Given the description of an element on the screen output the (x, y) to click on. 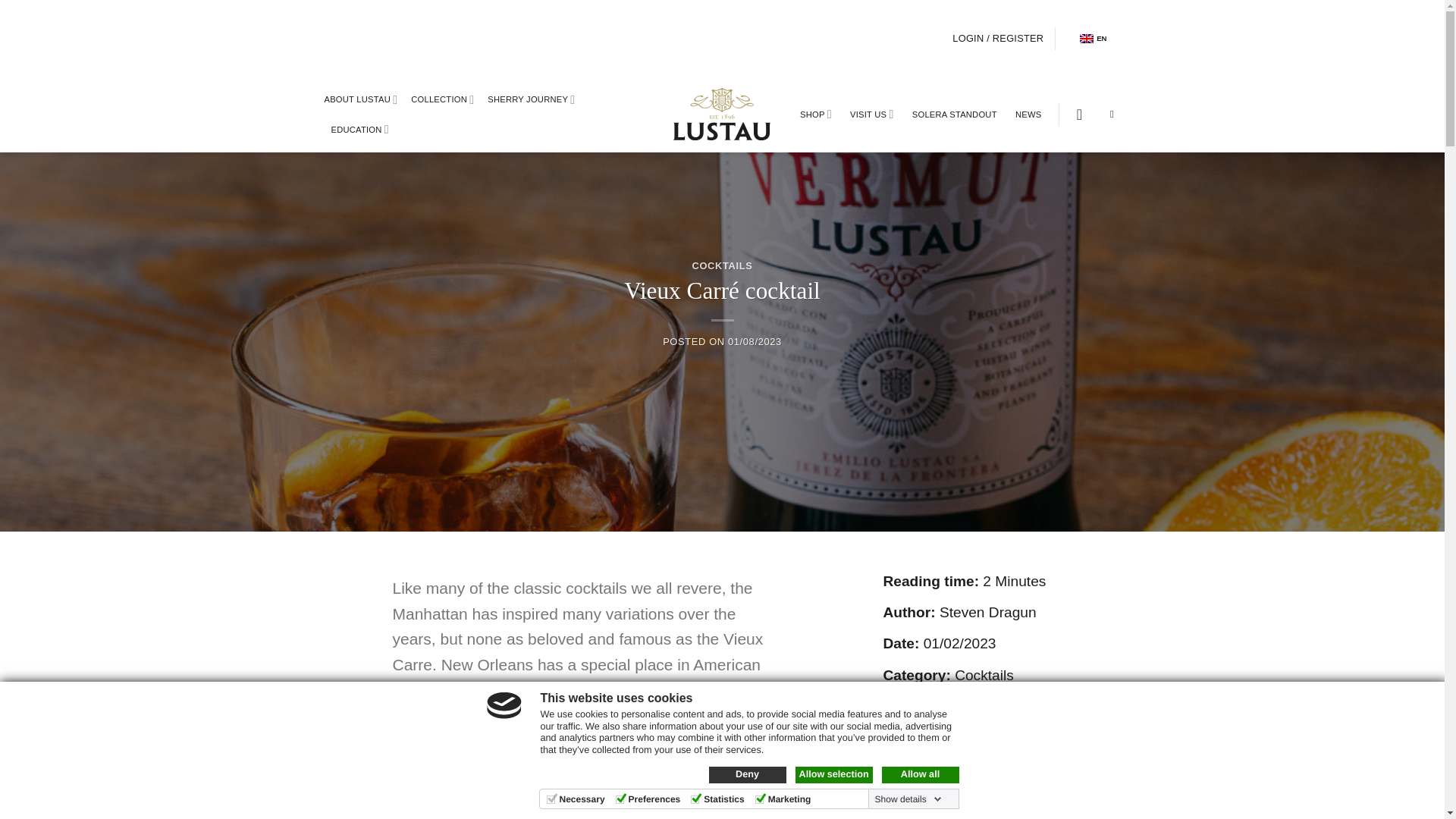
Allow all (919, 774)
Show details (908, 799)
Deny (746, 774)
Allow selection (833, 774)
